Given the description of an element on the screen output the (x, y) to click on. 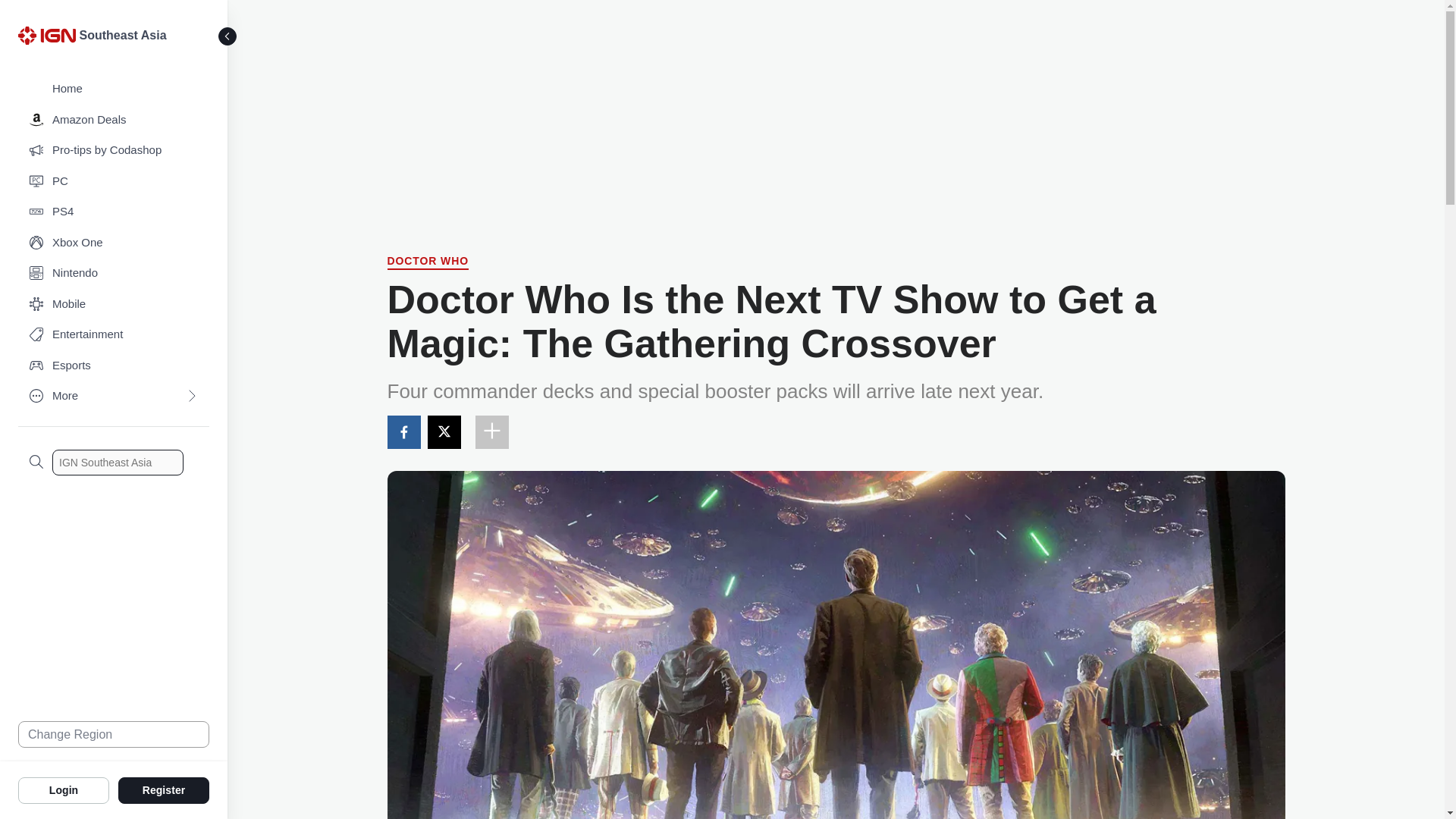
Entertainment (113, 334)
Mobile (113, 304)
DOCTOR WHO (427, 262)
PC (113, 181)
Pro-tips by Codashop (113, 150)
PS4 (113, 211)
Toggle Sidebar (226, 36)
IGN Logo (48, 39)
Register (163, 789)
Esports (113, 365)
Xbox One (113, 242)
Doctor Who (427, 262)
More (113, 396)
Login (63, 789)
Nintendo (113, 273)
